Given the description of an element on the screen output the (x, y) to click on. 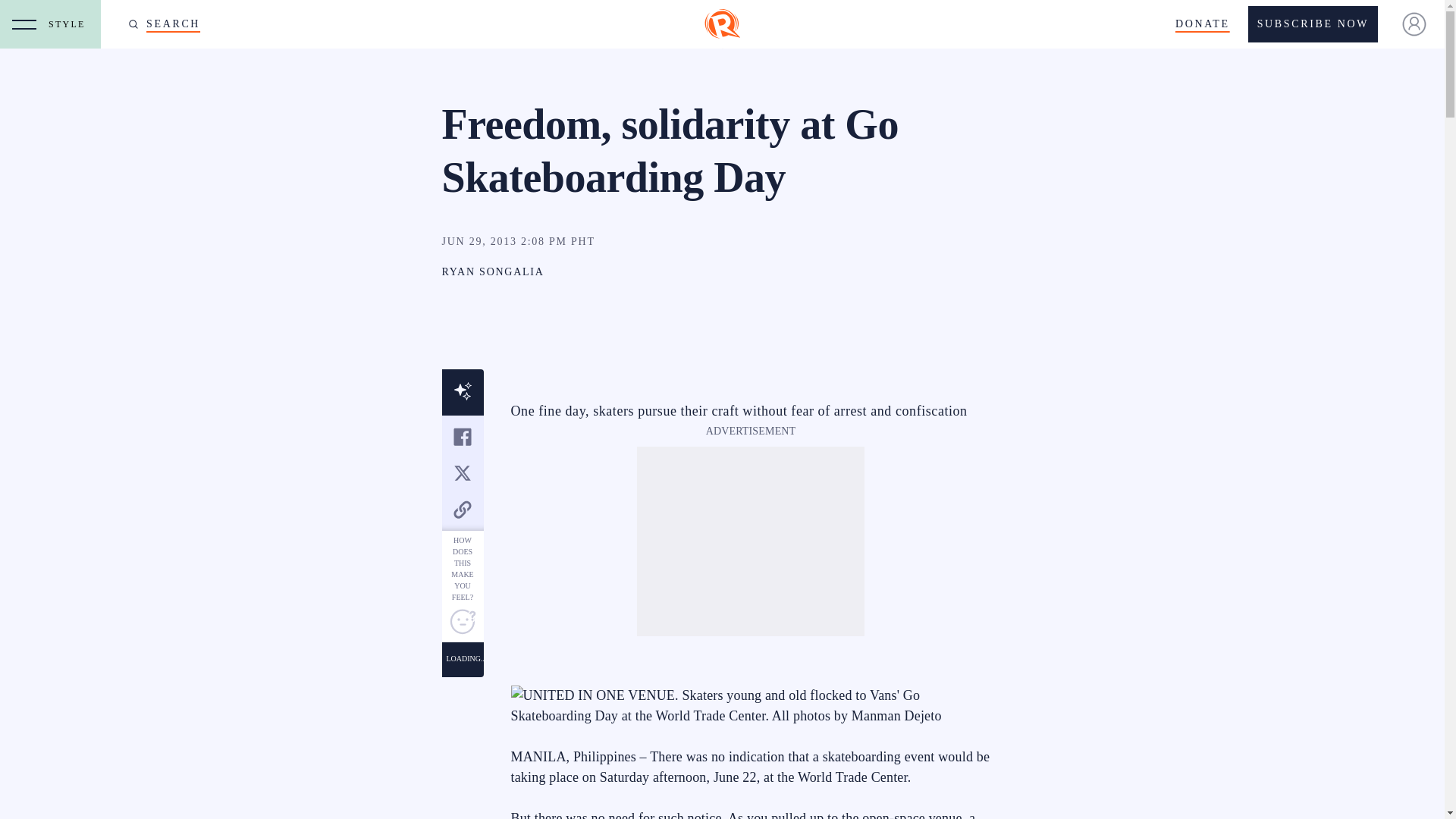
OPEN NAVIGATION (24, 24)
STYLE (70, 23)
